Given the description of an element on the screen output the (x, y) to click on. 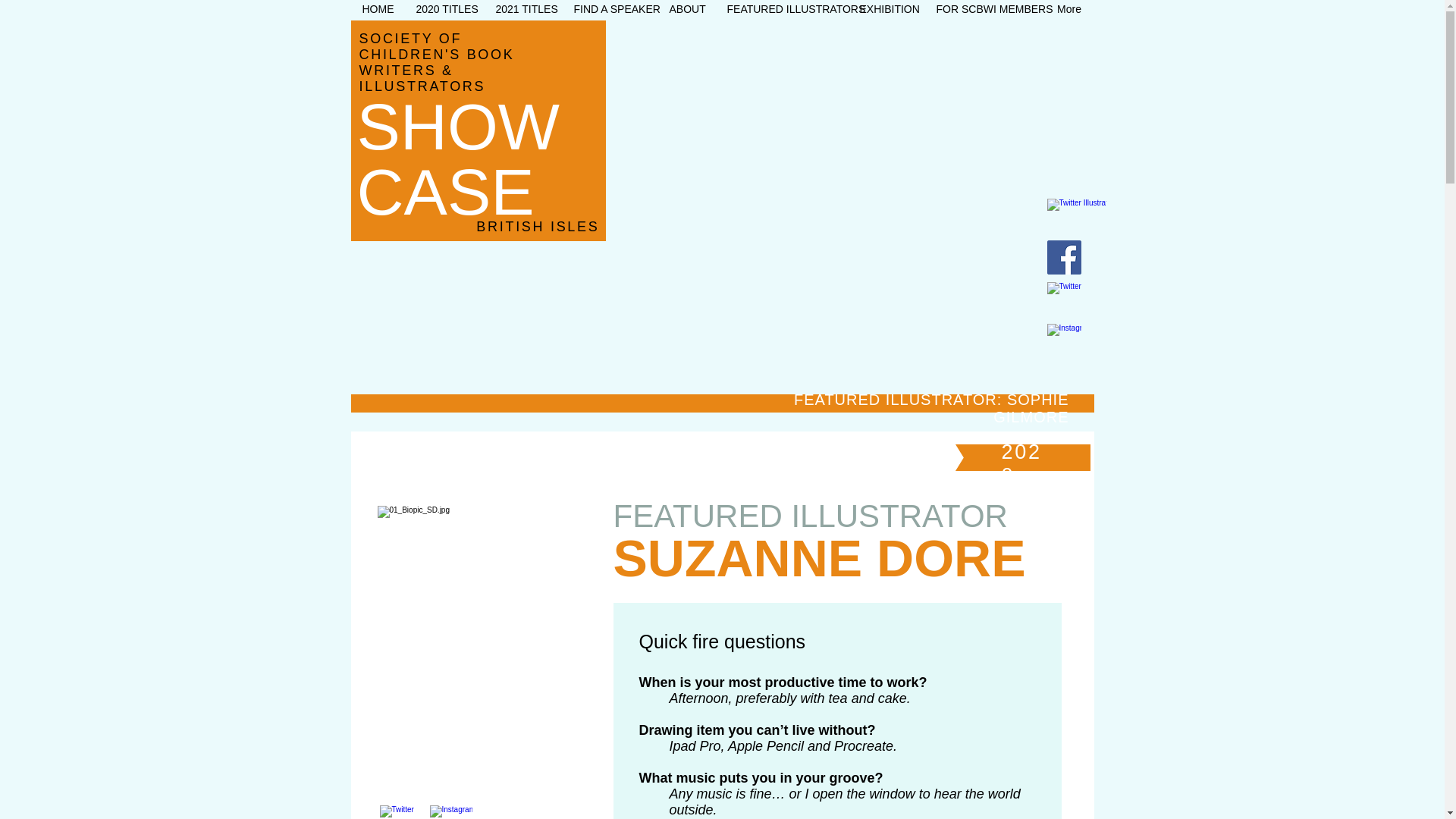
ABOUT (687, 11)
2020 TITLES (444, 11)
2021 TITLES (522, 11)
HOME (377, 11)
FIND A SPEAKER (610, 11)
